Given the description of an element on the screen output the (x, y) to click on. 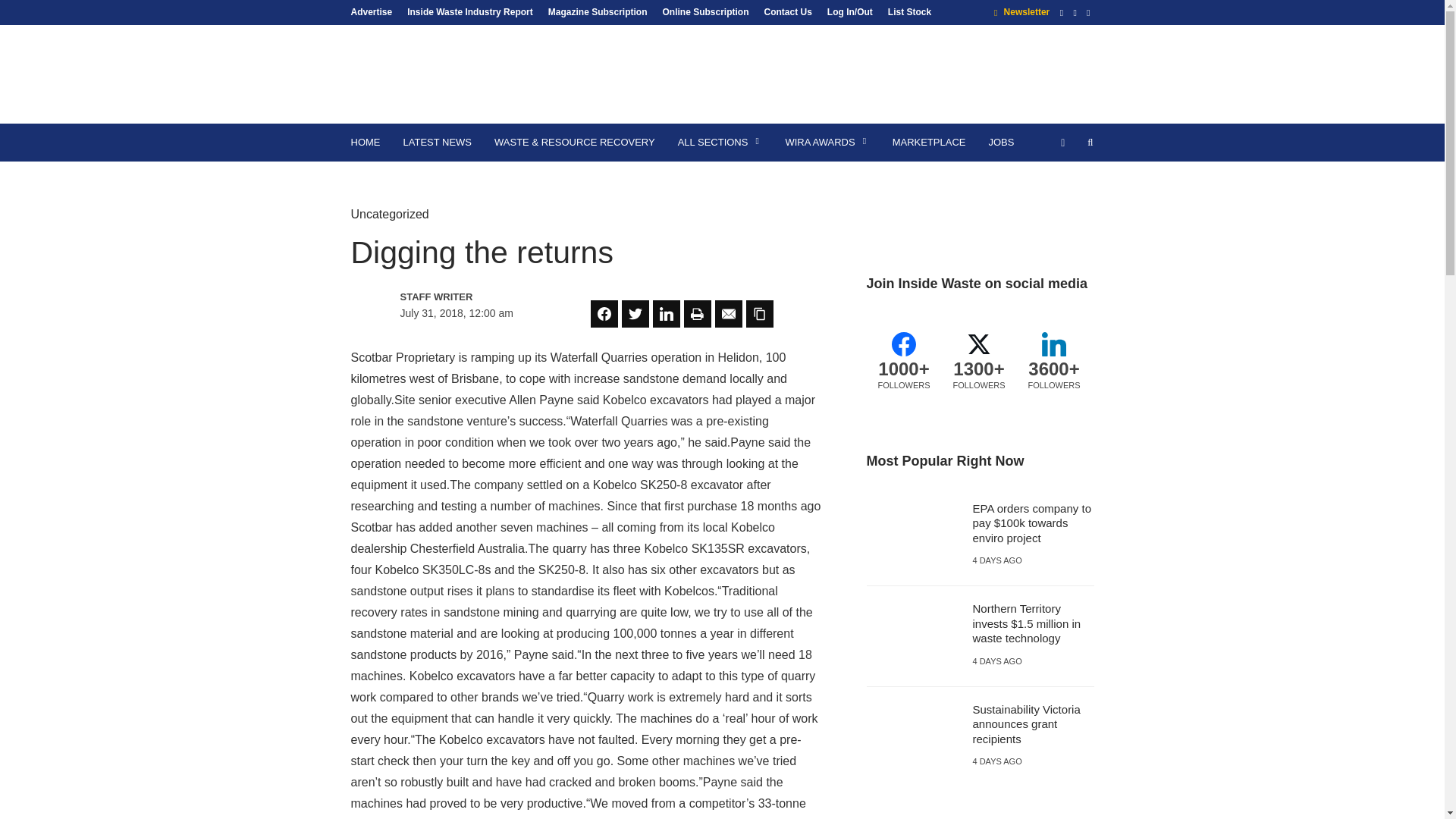
Share on Print (697, 313)
LATEST NEWS (437, 142)
Share on Facebook (604, 313)
Share on Email (728, 313)
Advertise (374, 11)
Share on Copy Link (759, 313)
Share on Twitter (635, 313)
View all posts by Staff Writer (465, 296)
Contact Us (788, 11)
ALL SECTIONS (720, 142)
